Given the description of an element on the screen output the (x, y) to click on. 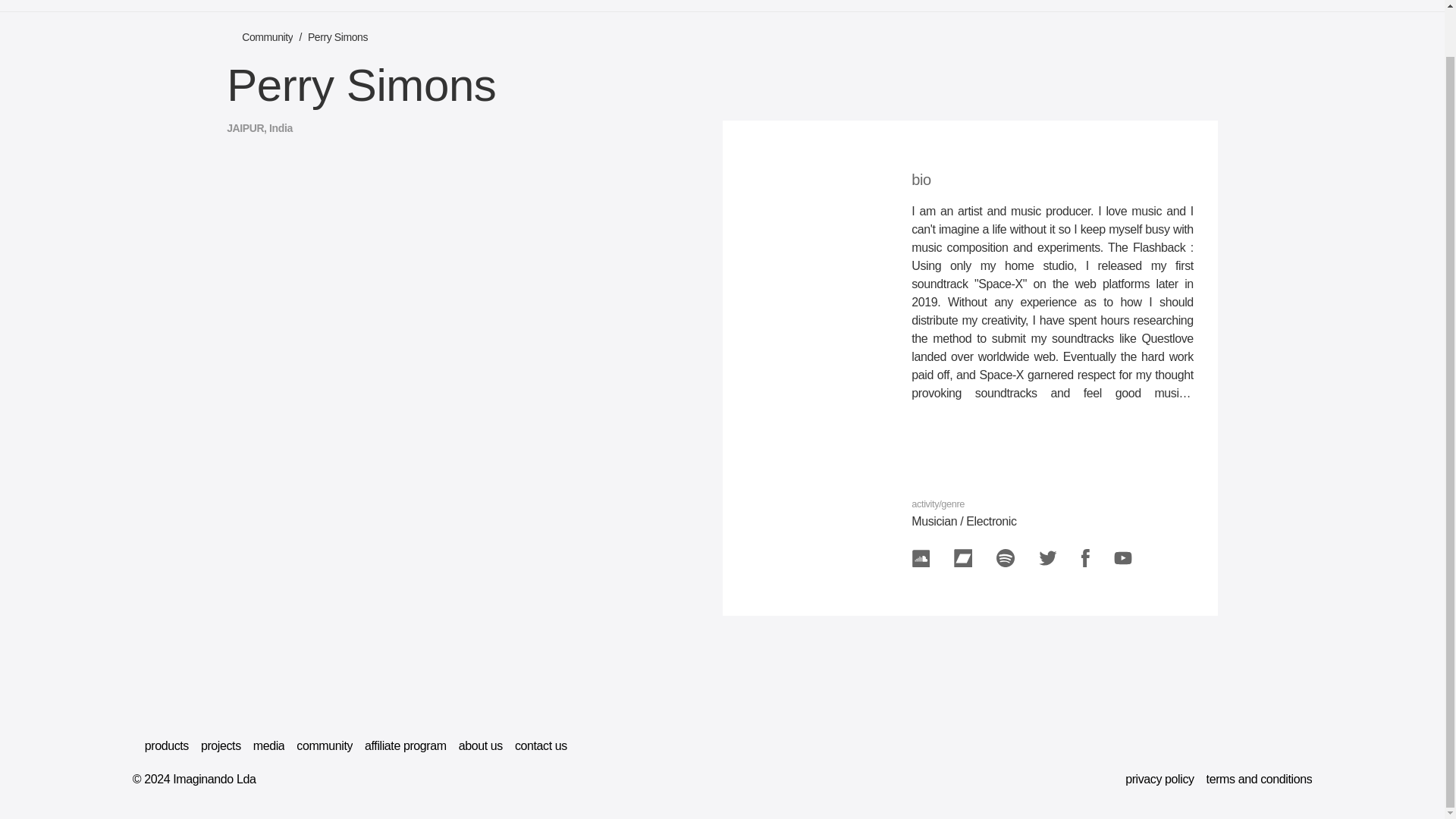
Perry Simons (337, 37)
Check bandcamp of Perry Simons (962, 557)
community (324, 746)
projects (220, 746)
contact us (541, 746)
about us (480, 746)
products (166, 746)
Check twitter of Perry Simons (1048, 557)
Check spotify of Perry Simons (1004, 557)
Check soundcloud of Perry Simons (920, 557)
